Given the description of an element on the screen output the (x, y) to click on. 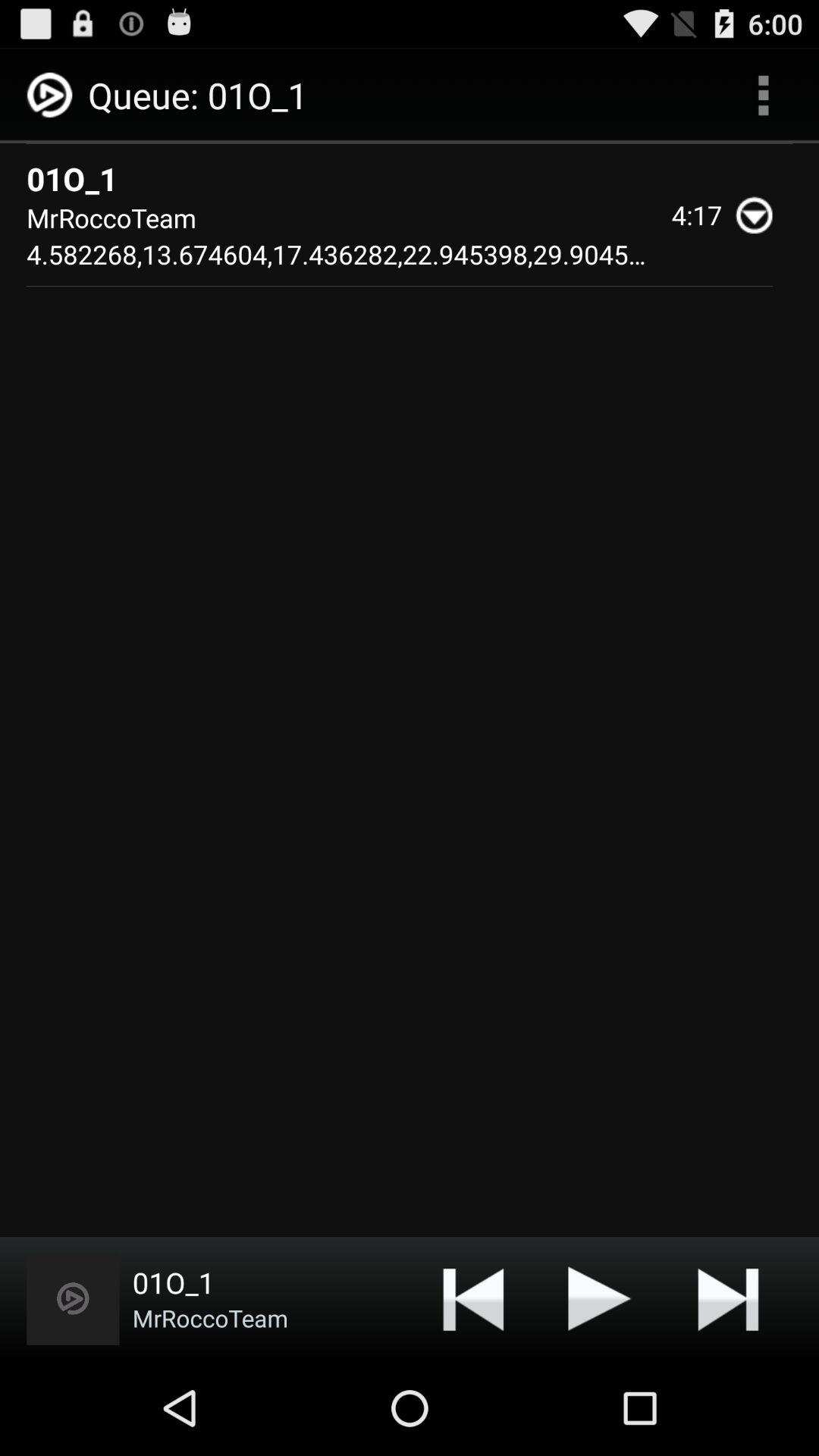
click the item to the right of 4:17 (760, 214)
